Given the description of an element on the screen output the (x, y) to click on. 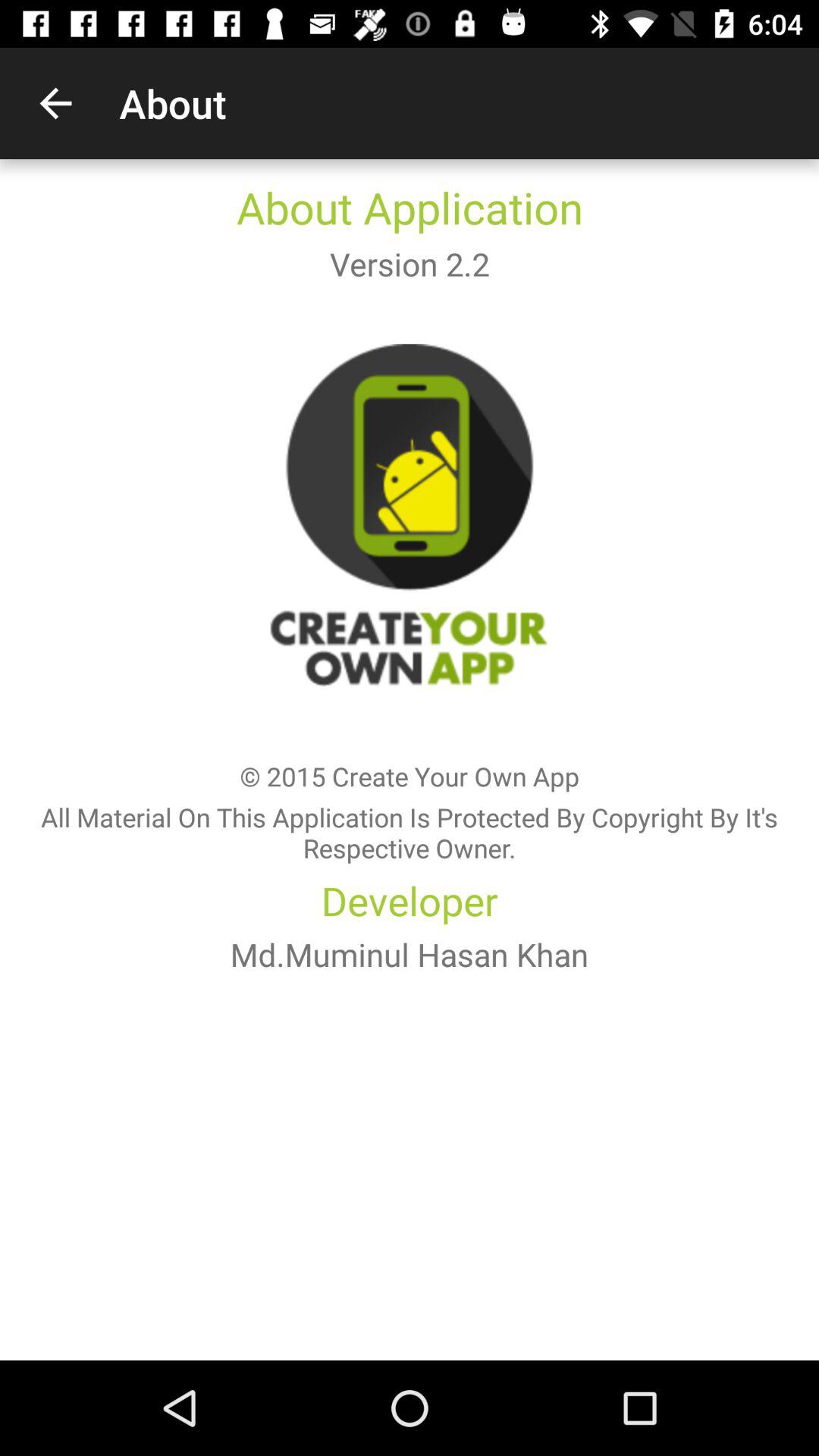
click the icon to the left of about app (55, 103)
